Given the description of an element on the screen output the (x, y) to click on. 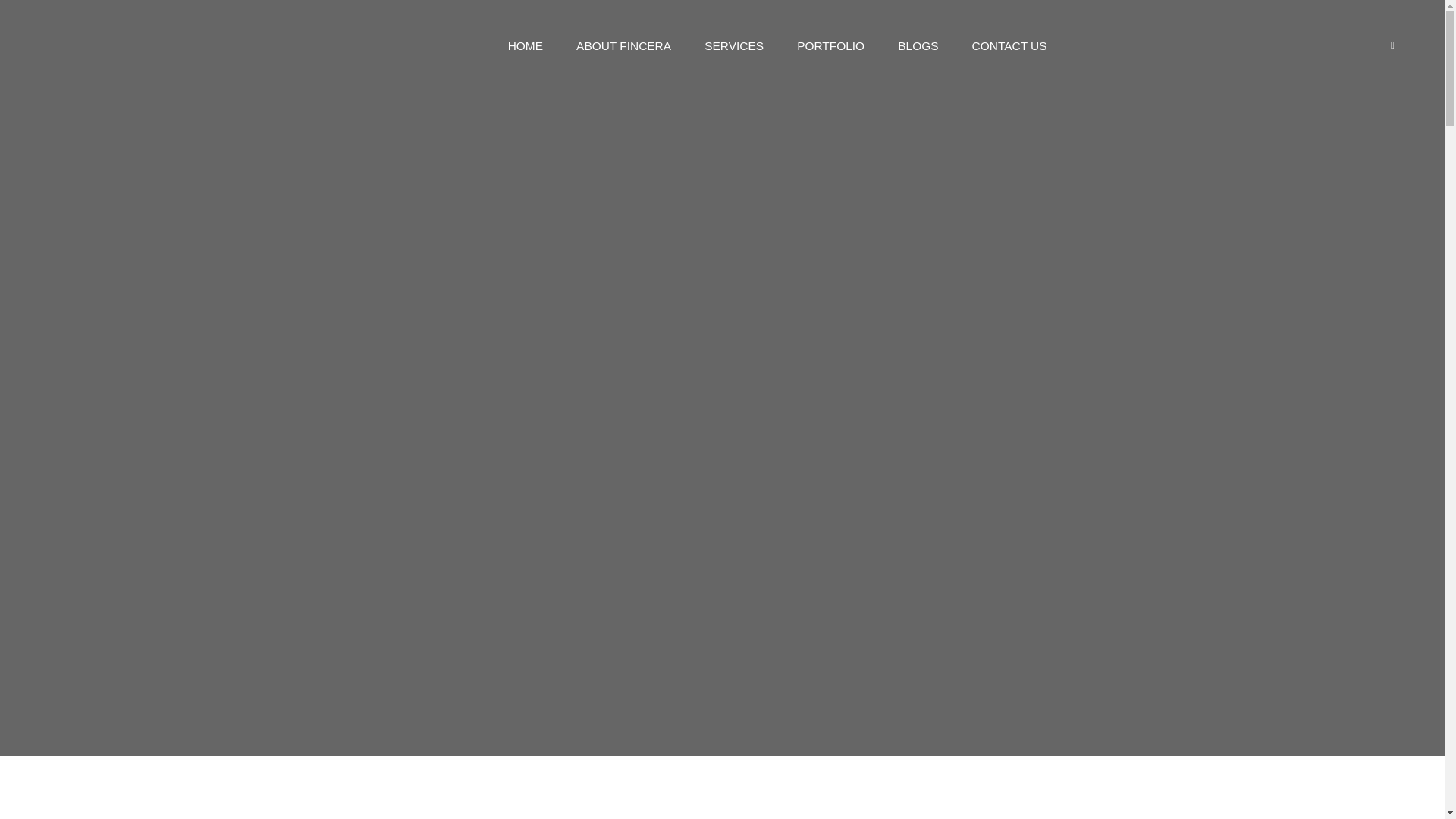
SERVICES (733, 45)
CONTACT US (1009, 45)
ABOUT FINCERA (623, 45)
BLOGS (917, 45)
PORTFOLIO (830, 45)
HOME (525, 45)
